Given the description of an element on the screen output the (x, y) to click on. 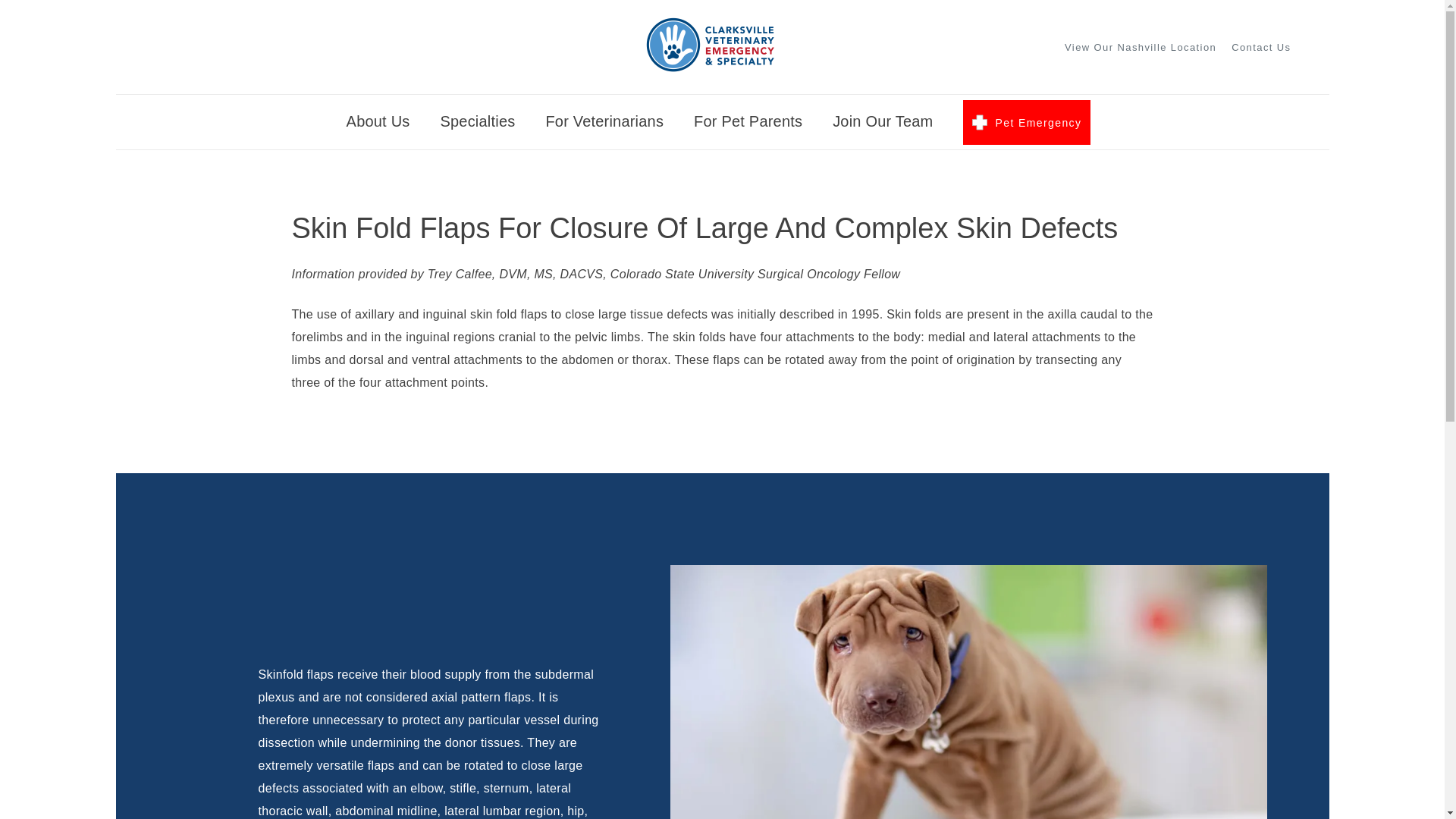
For Pet Parents (748, 125)
About Us (378, 125)
Contact Us (1260, 46)
For Veterinarians (603, 125)
Pet Emergency (1026, 121)
Specialties (477, 125)
Join Our Team (882, 125)
Contact Us (1260, 46)
For Veterinarians (603, 125)
About Us (378, 125)
